Given the description of an element on the screen output the (x, y) to click on. 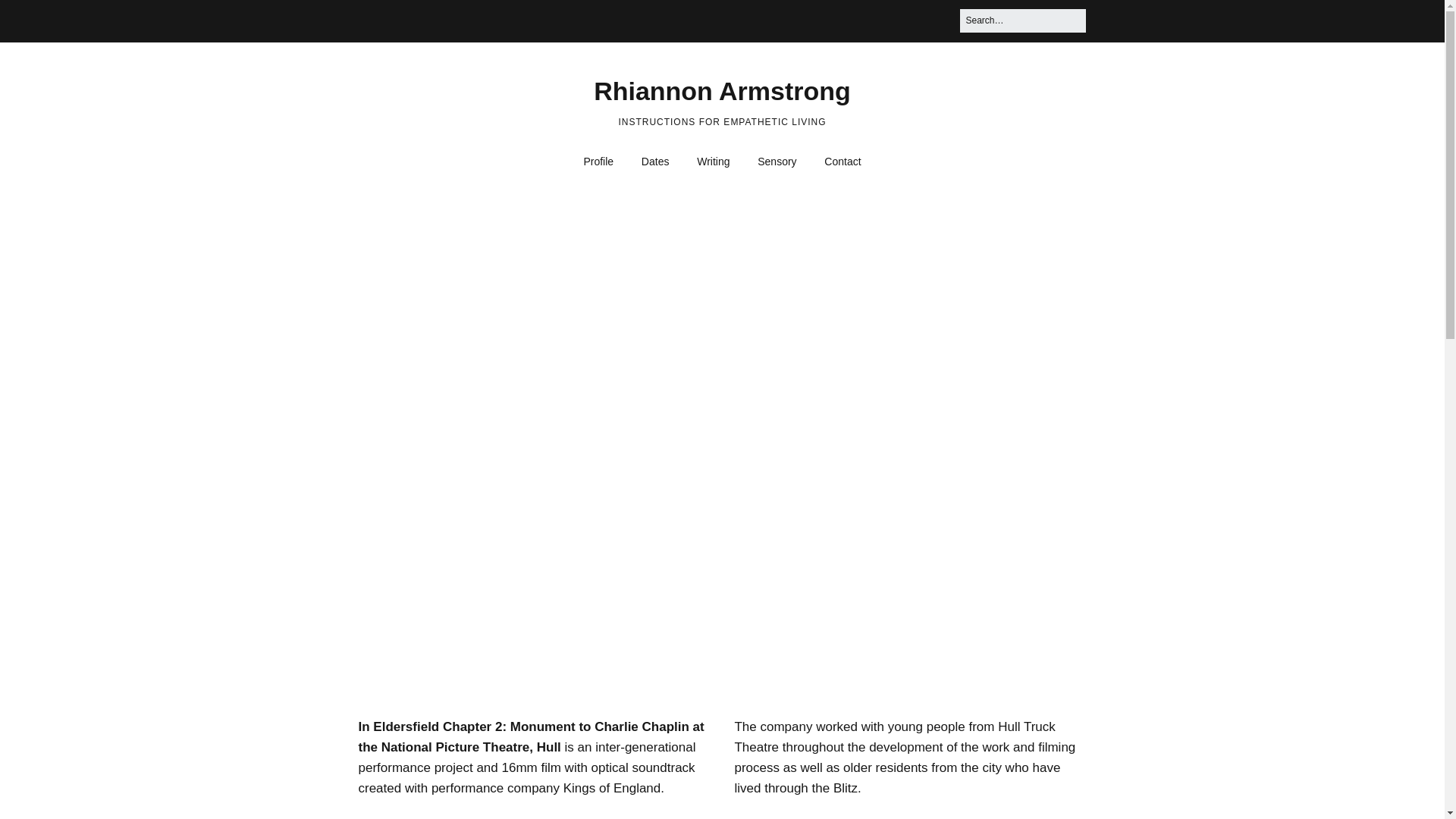
Search (29, 16)
Writing (712, 162)
Rhiannon Armstrong (722, 90)
Profile (598, 162)
Sensory (776, 162)
Press Enter to submit your search (1022, 20)
Dates (654, 162)
Contact (842, 162)
